Given the description of an element on the screen output the (x, y) to click on. 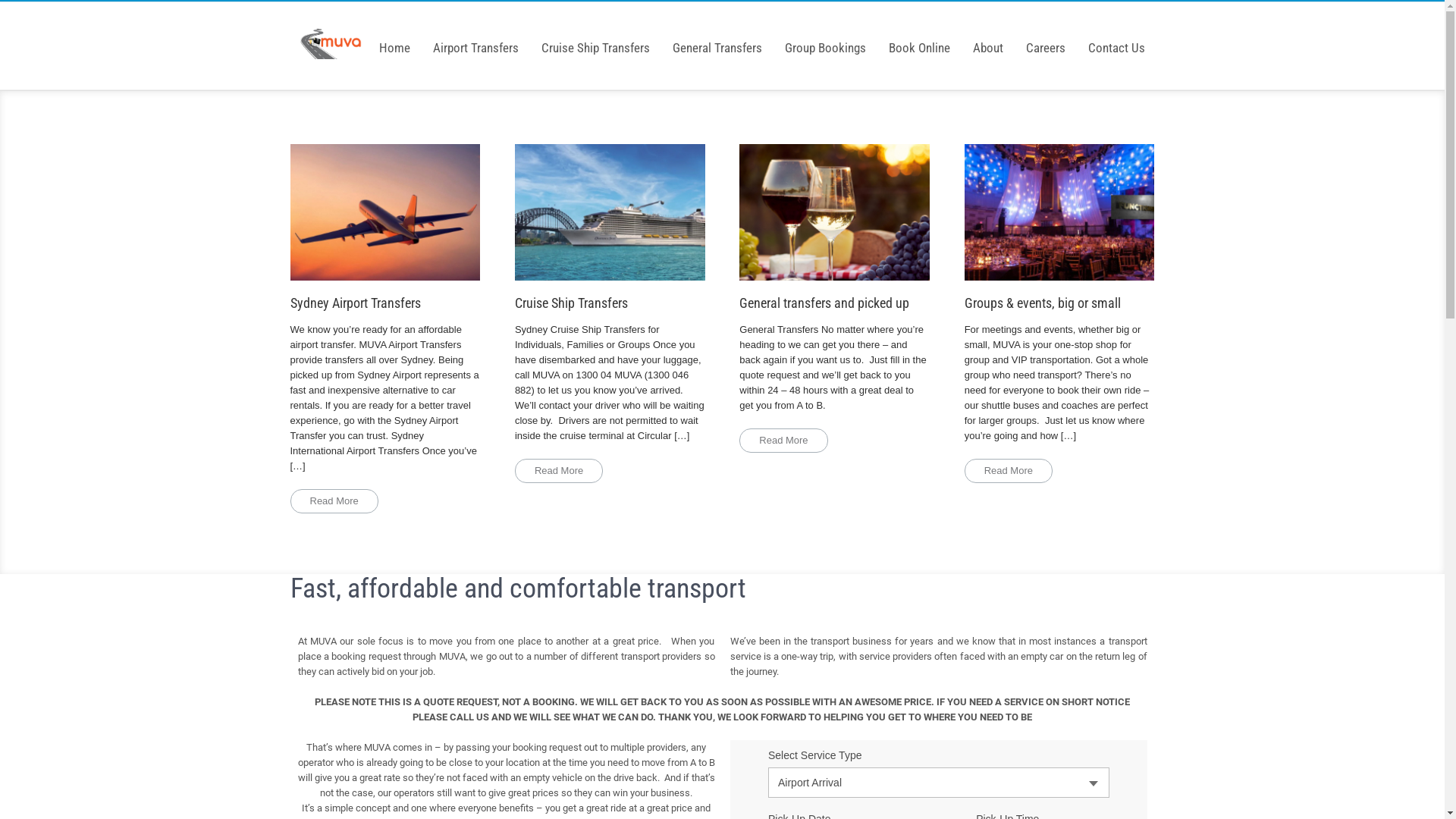
Sydney Airport Transfers Element type: text (384, 227)
Book Online Element type: text (918, 36)
Cruise Ship Transfers Element type: text (594, 36)
Airport Transfers Element type: text (475, 36)
Read More Element type: text (333, 501)
Careers Element type: text (1045, 36)
About Element type: text (988, 36)
Read More Element type: text (783, 440)
Groups & events, big or small Element type: text (1059, 227)
Home Element type: text (393, 36)
General Transfers Element type: text (716, 36)
Cruise Ship Transfers Element type: text (609, 227)
General transfers and picked up Element type: text (834, 227)
Read More Element type: text (558, 470)
Group Bookings Element type: text (825, 36)
Contact Us Element type: text (1116, 36)
Read More Element type: text (1008, 470)
